Given the description of an element on the screen output the (x, y) to click on. 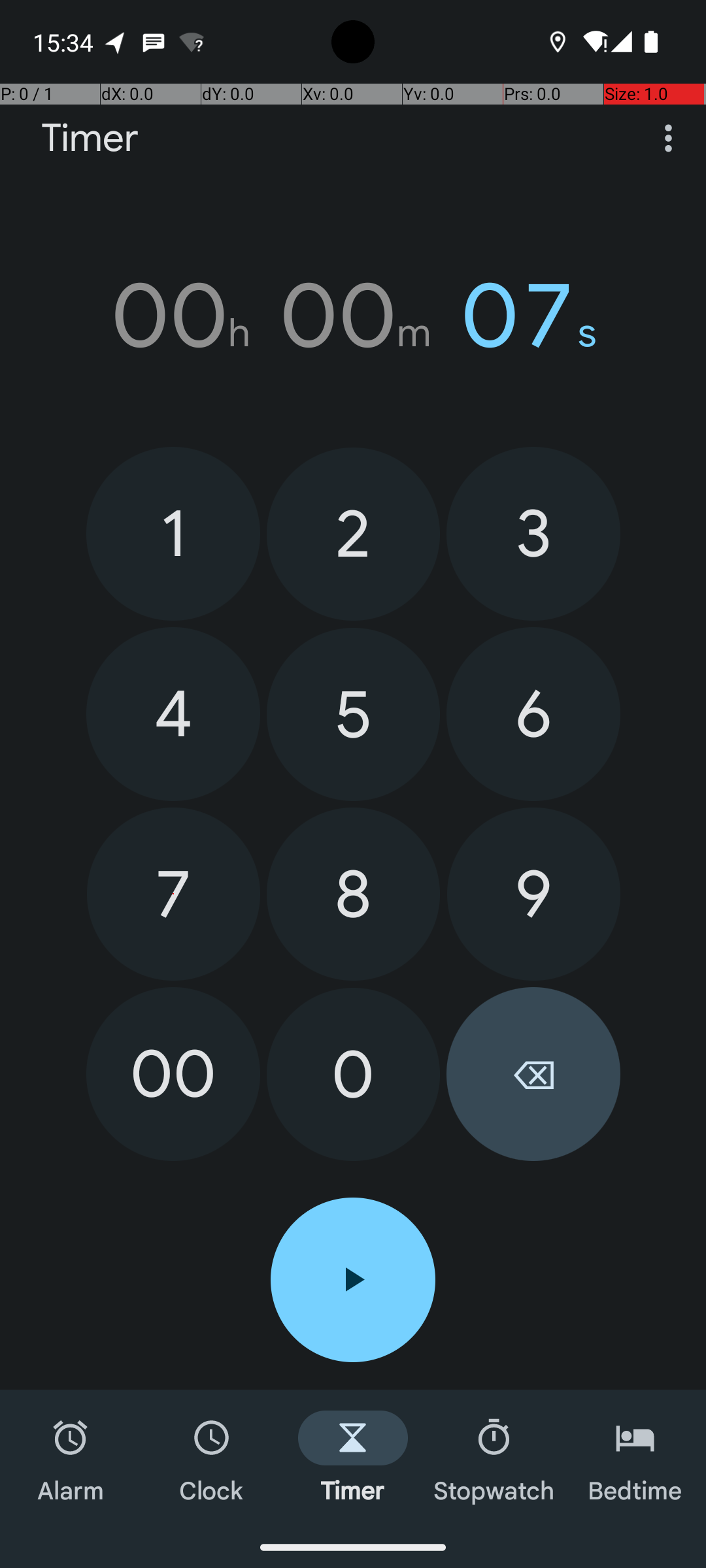
00h 00m 07s Element type: android.widget.TextView (353, 315)
